Given the description of an element on the screen output the (x, y) to click on. 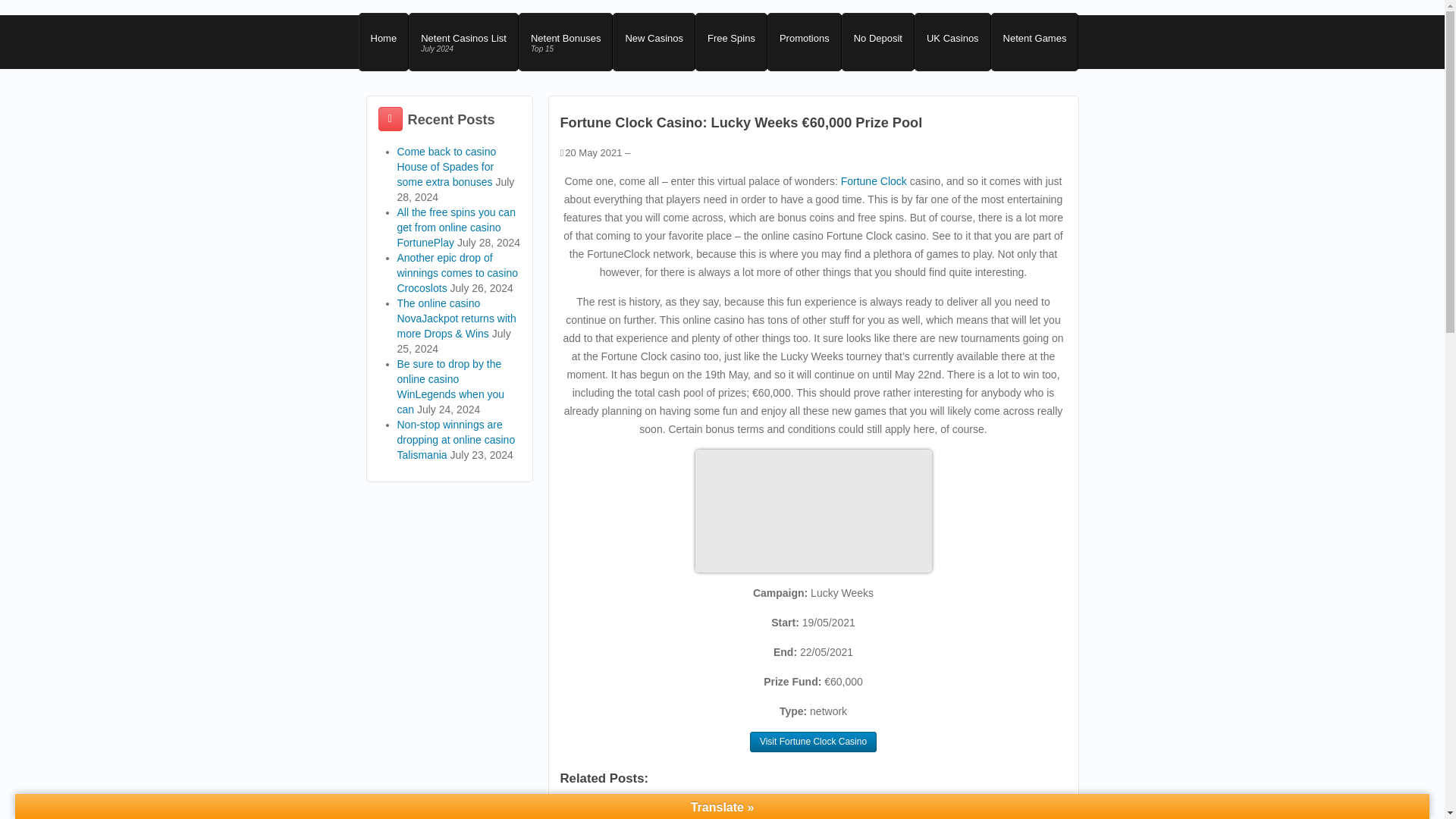
Fortune Clock (874, 181)
Non-stop winnings are dropping at online casino Talismania (456, 439)
Another epic drop of winnings comes to casino Crocoslots (457, 272)
Promotions (804, 42)
No Deposit (565, 42)
Be sure to drop by the online casino WinLegends when you can (877, 42)
The Free Spins Hour is active at casino Fortune Clock (451, 386)
Visit Fortune Clock Casino (734, 811)
Come back to casino House of Spades for some extra bonuses (812, 742)
Free Spins (446, 166)
Netent Games (731, 42)
New Casinos (1034, 42)
UK Casinos (653, 42)
